Given the description of an element on the screen output the (x, y) to click on. 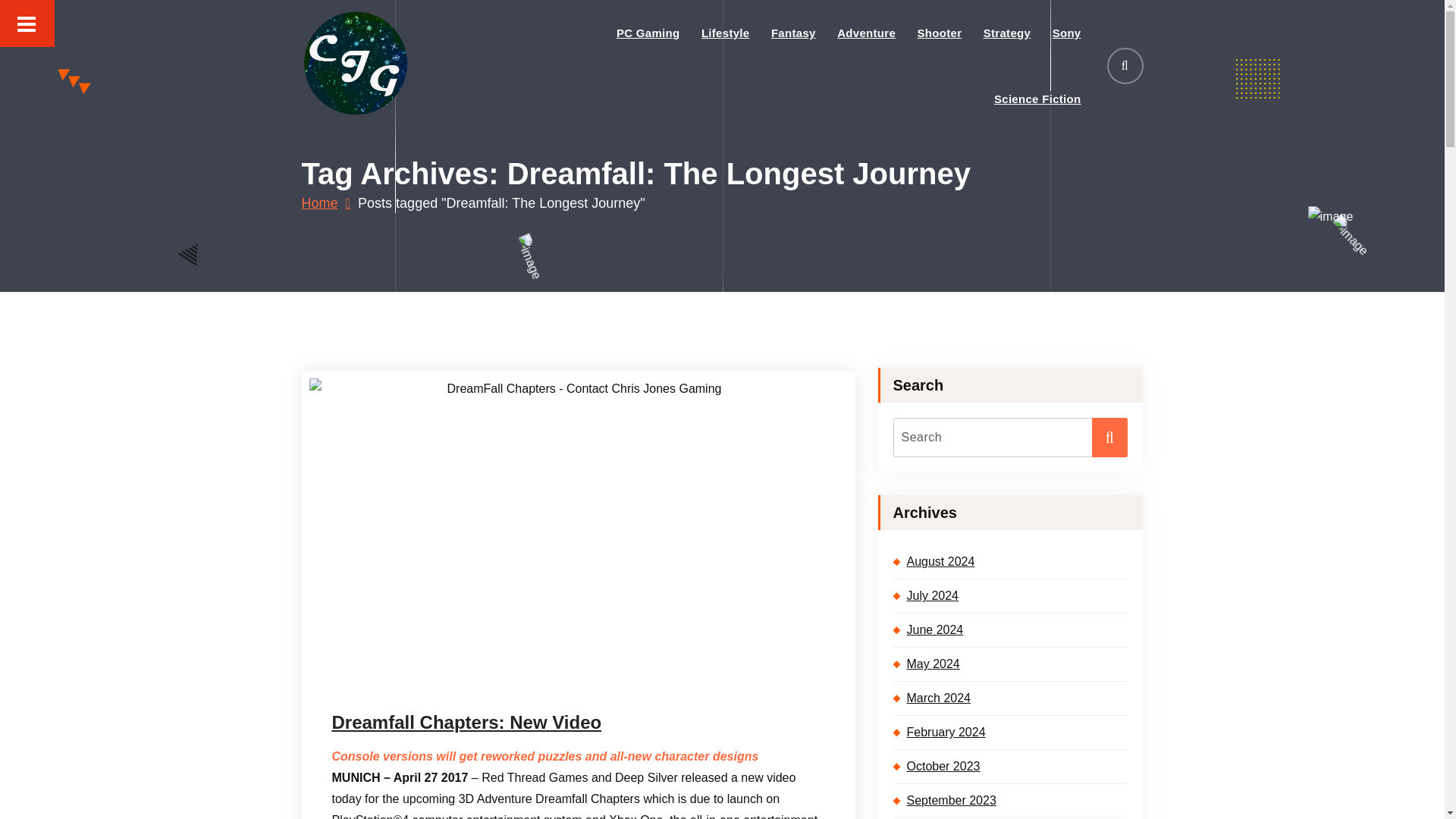
Adventure (866, 33)
July 2024 (1010, 595)
Home (325, 202)
Shooter (939, 33)
Fantasy (793, 33)
May 2024 (1010, 663)
Shooter (939, 33)
Science Fiction (1037, 98)
Lifestyle (725, 33)
March 2024 (1010, 697)
